Given the description of an element on the screen output the (x, y) to click on. 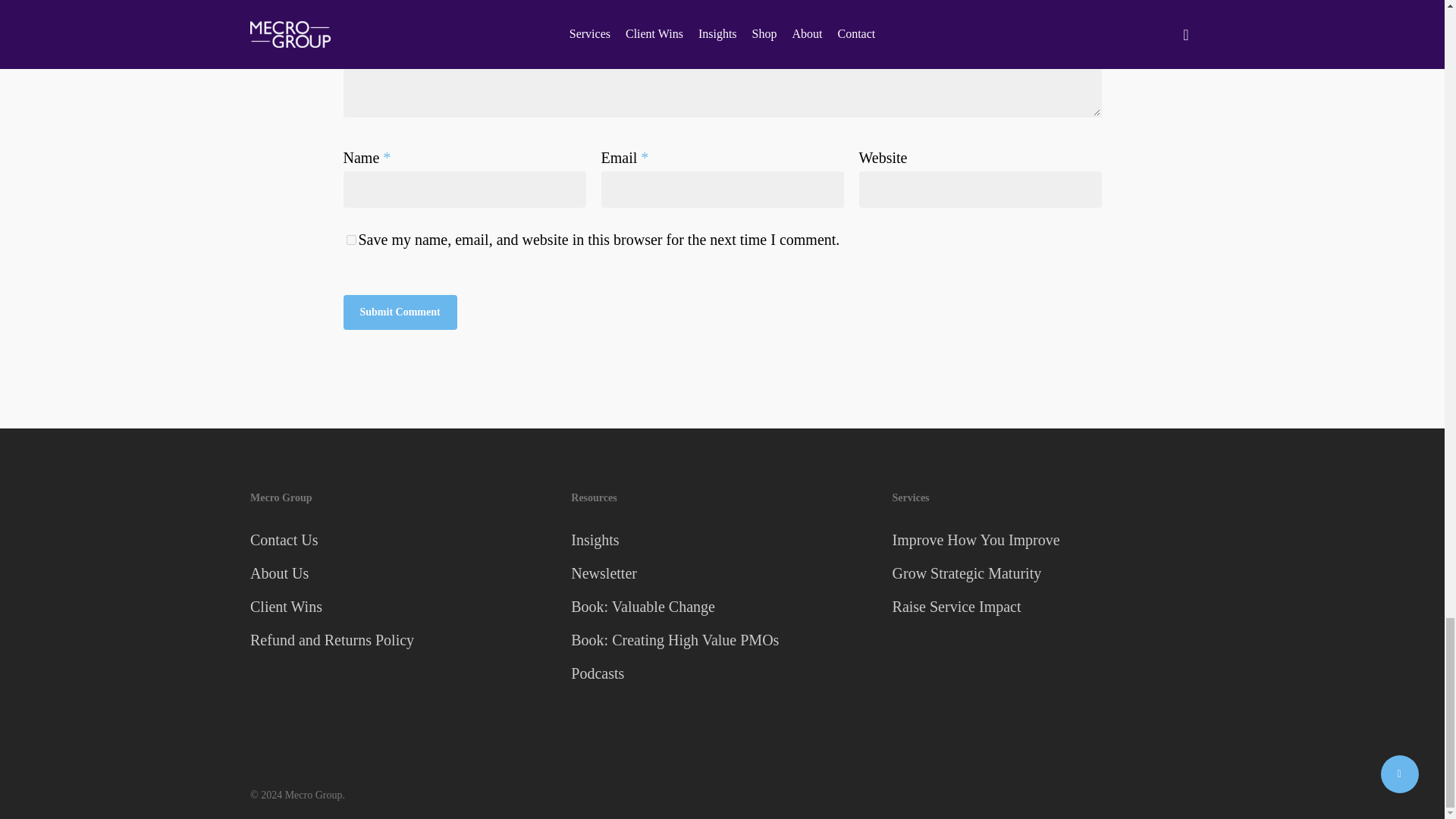
Submit Comment (399, 312)
Book: Creating High Value PMOs (721, 639)
Client Wins (400, 605)
Insights (721, 539)
yes (350, 239)
Improve How You Improve (1042, 539)
Newsletter (721, 573)
About Us (400, 573)
Book: Valuable Change (721, 605)
Refund and Returns Policy (400, 639)
Grow Strategic Maturity (1042, 573)
Contact Us (400, 539)
Submit Comment (399, 312)
Raise Service Impact (1042, 605)
Podcasts (721, 673)
